Given the description of an element on the screen output the (x, y) to click on. 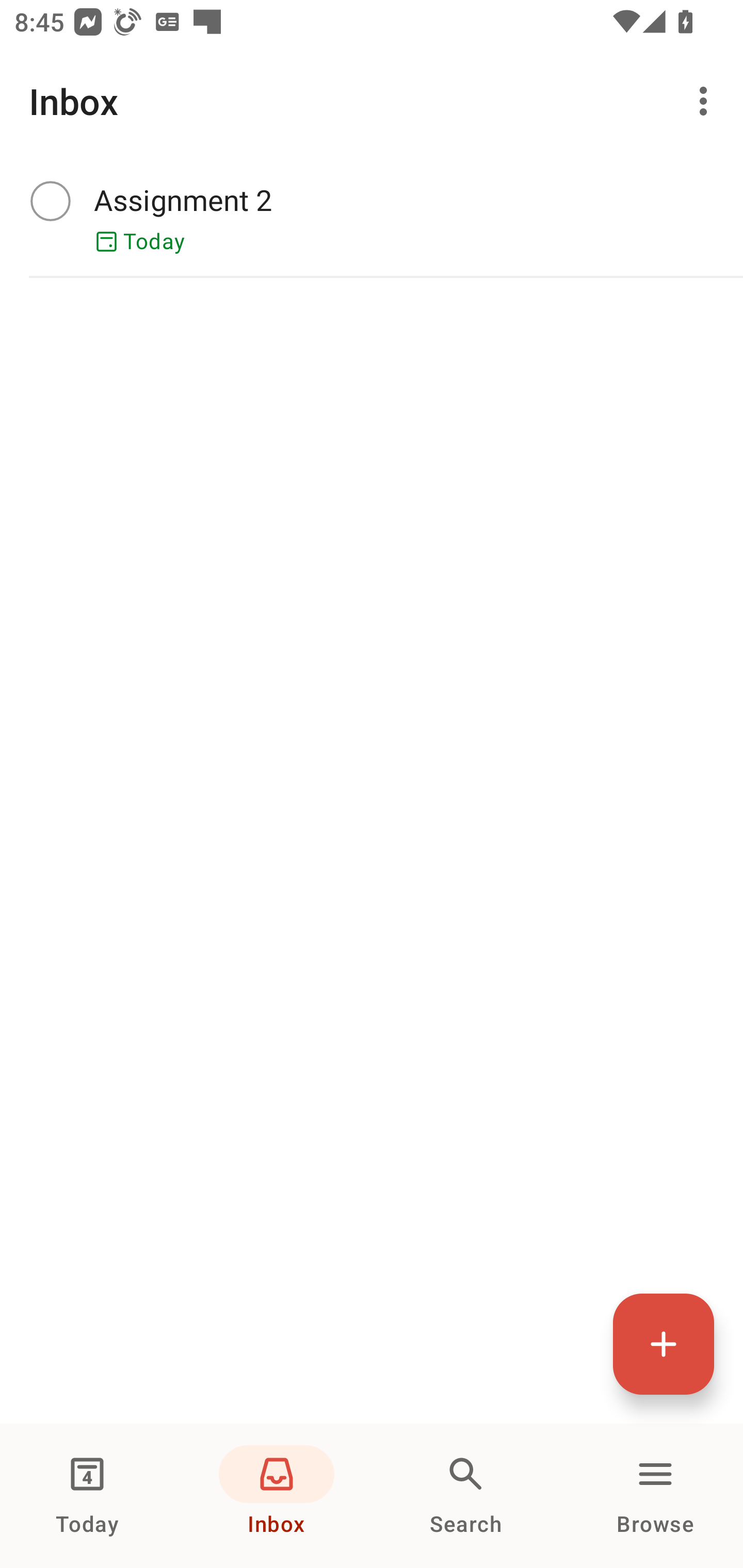
Inbox More options (371, 100)
More options (706, 101)
Complete Assignment 2 Today (371, 216)
Complete (50, 200)
Quick add (663, 1343)
Today (87, 1495)
Search (465, 1495)
Browse (655, 1495)
